Given the description of an element on the screen output the (x, y) to click on. 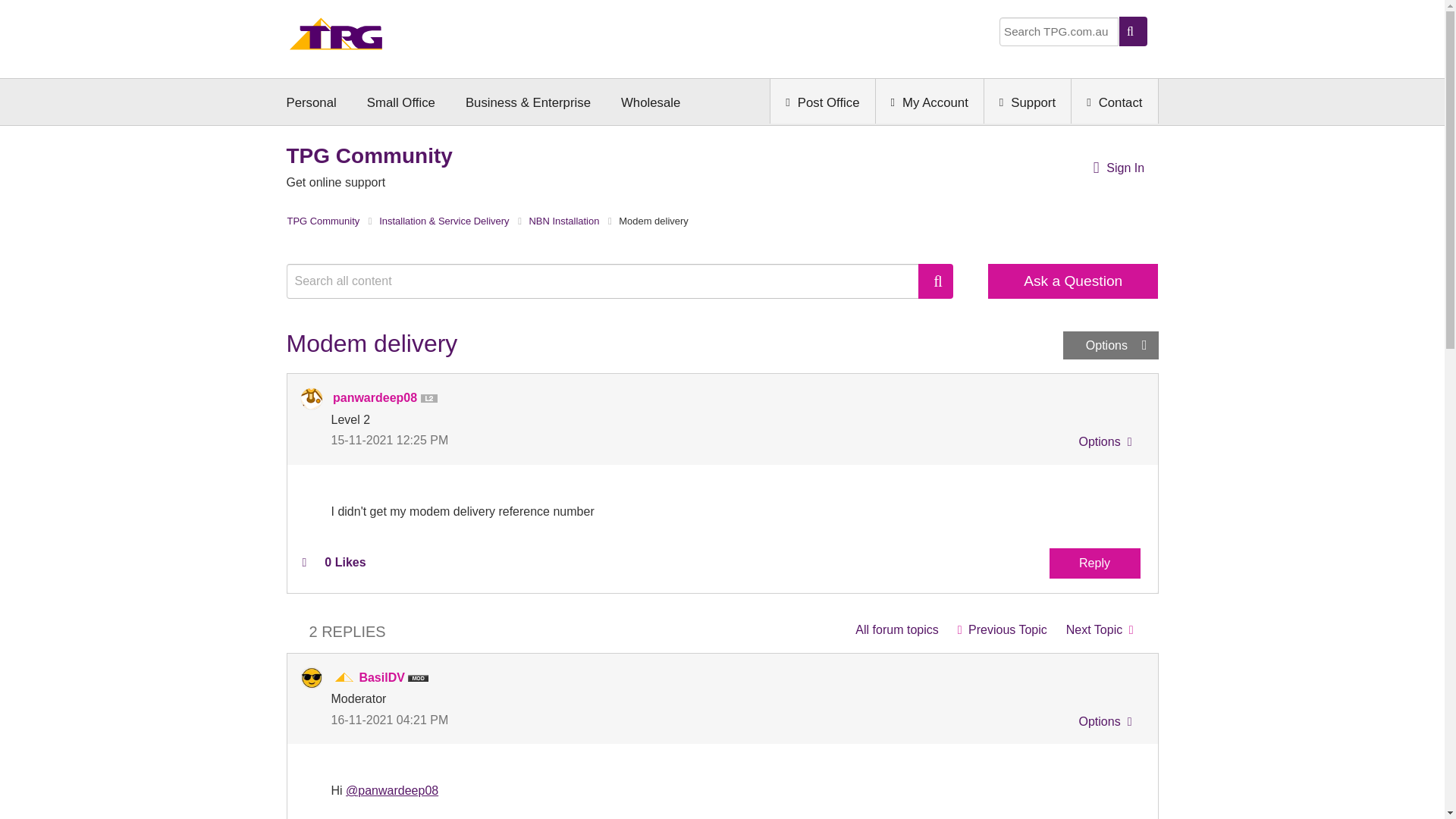
panwardeep08 (310, 398)
Search (935, 280)
Optus box on side of house (1099, 629)
Level 2 (432, 398)
BasilDV (310, 677)
Posted on (526, 439)
Search (610, 280)
Search (935, 280)
No Internet (1002, 629)
The total number of kudos this post has received. (344, 562)
Moderator (344, 677)
Show option menu (1103, 443)
NBN Installation (896, 629)
Home (335, 38)
